Given the description of an element on the screen output the (x, y) to click on. 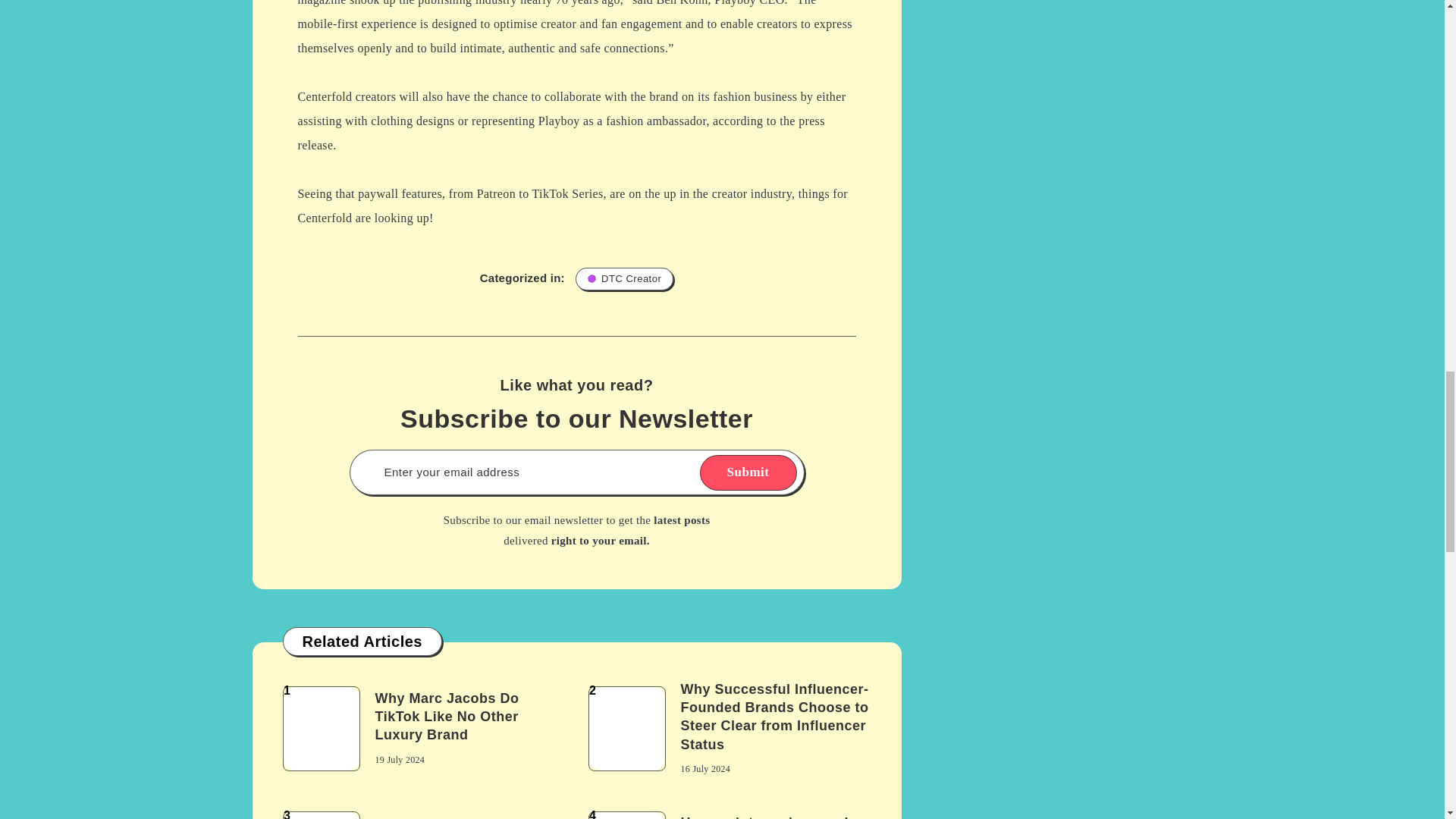
Why Marc Jacobs Do TikTok Like No Other Luxury Brand  (446, 718)
DTC Creator (623, 278)
1 (320, 728)
Submit (748, 472)
